Given the description of an element on the screen output the (x, y) to click on. 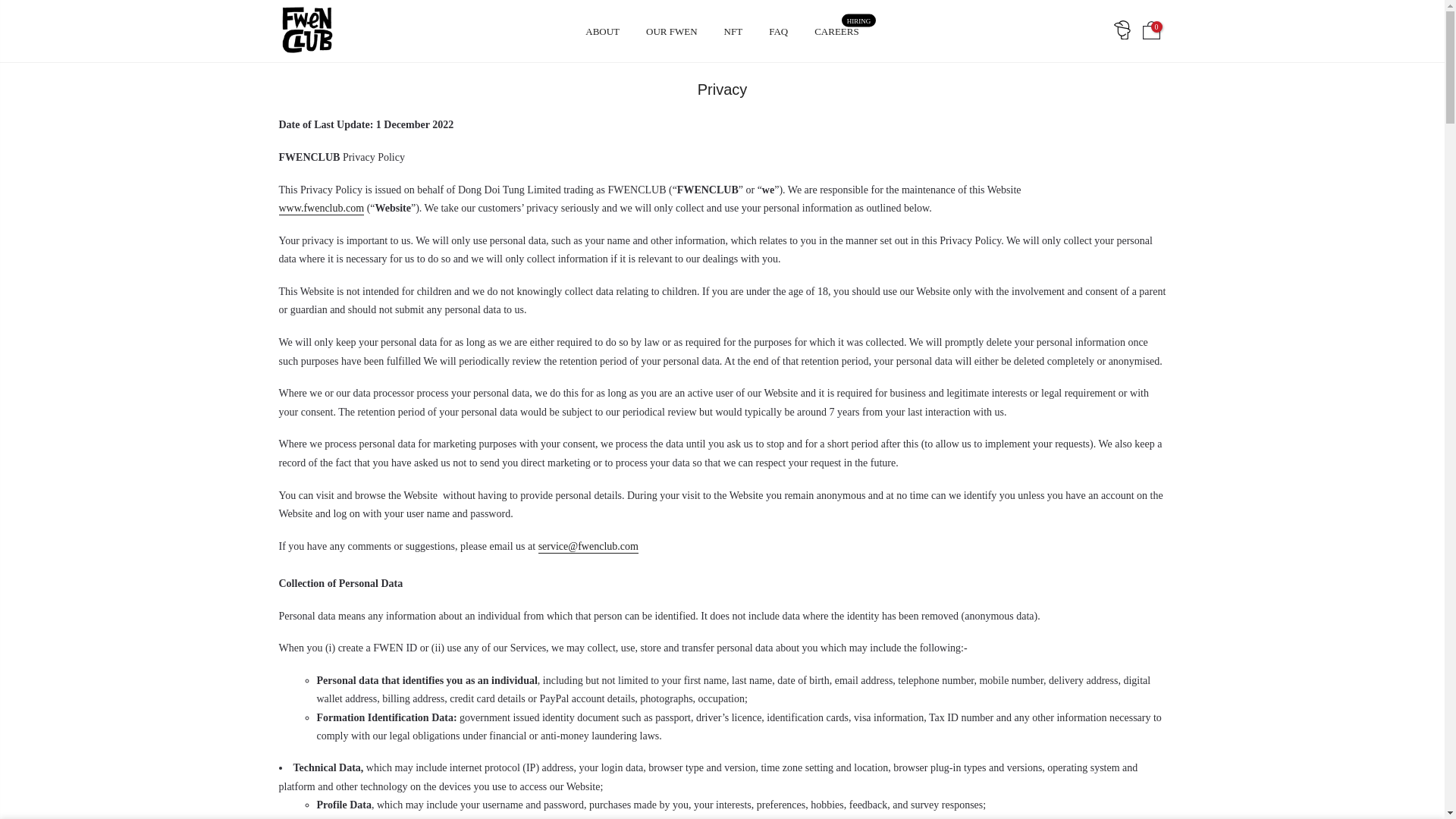
Subscribe (520, 659)
www.fwenclub.com (837, 30)
Terms of Use (322, 208)
Terms of Services (689, 696)
OUR FWEN (699, 669)
ABOUT (672, 30)
Discord (602, 30)
Privacy (947, 641)
